Given the description of an element on the screen output the (x, y) to click on. 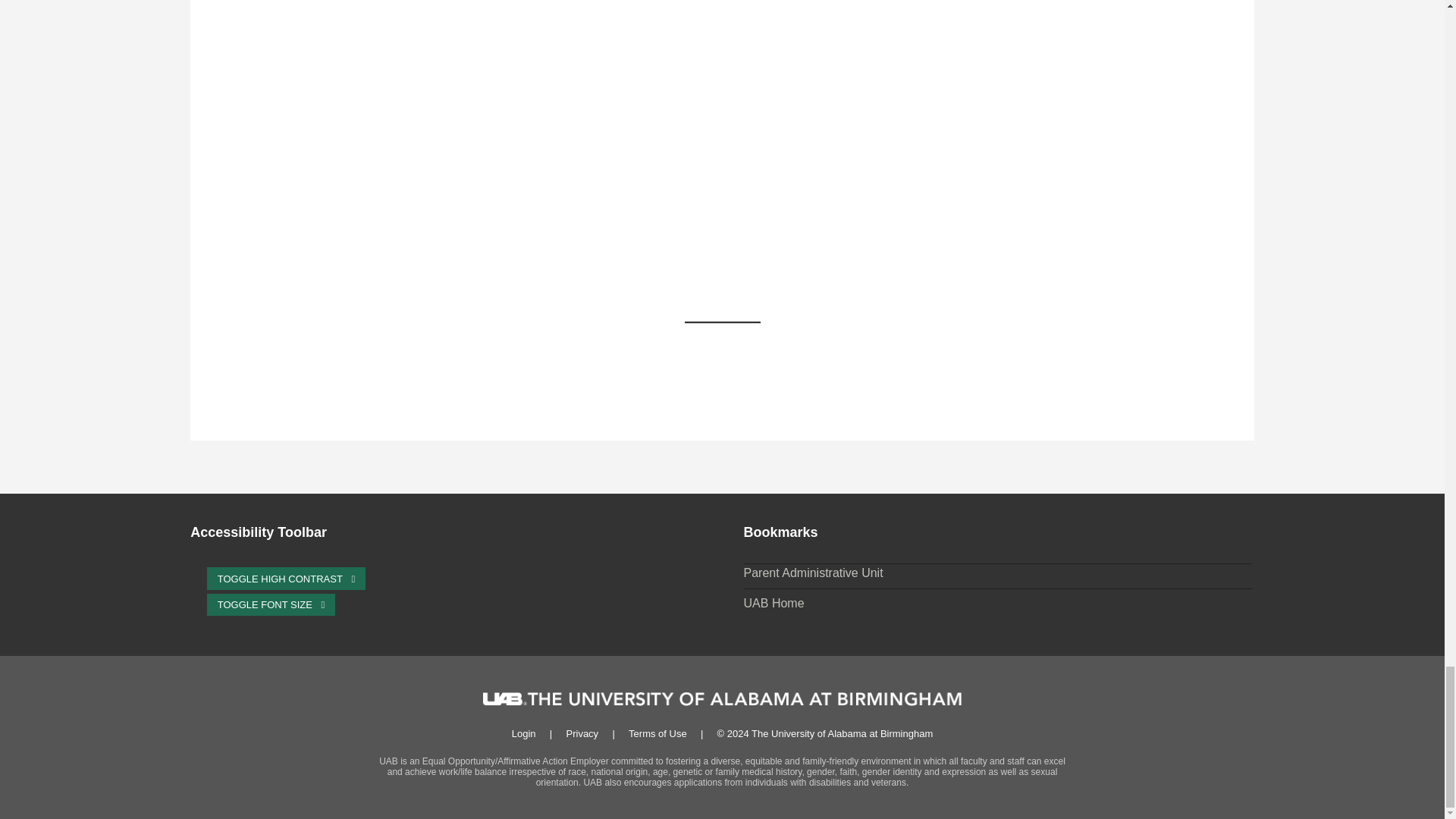
UAB Home (774, 603)
Login (523, 734)
Parent Administrative Unit (813, 572)
TOGGLE HIGH CONTRAST (286, 577)
UAB Homepage (774, 603)
Terms of Use (657, 734)
TOGGLE FONT SIZE (271, 604)
Privacy (582, 734)
